Given the description of an element on the screen output the (x, y) to click on. 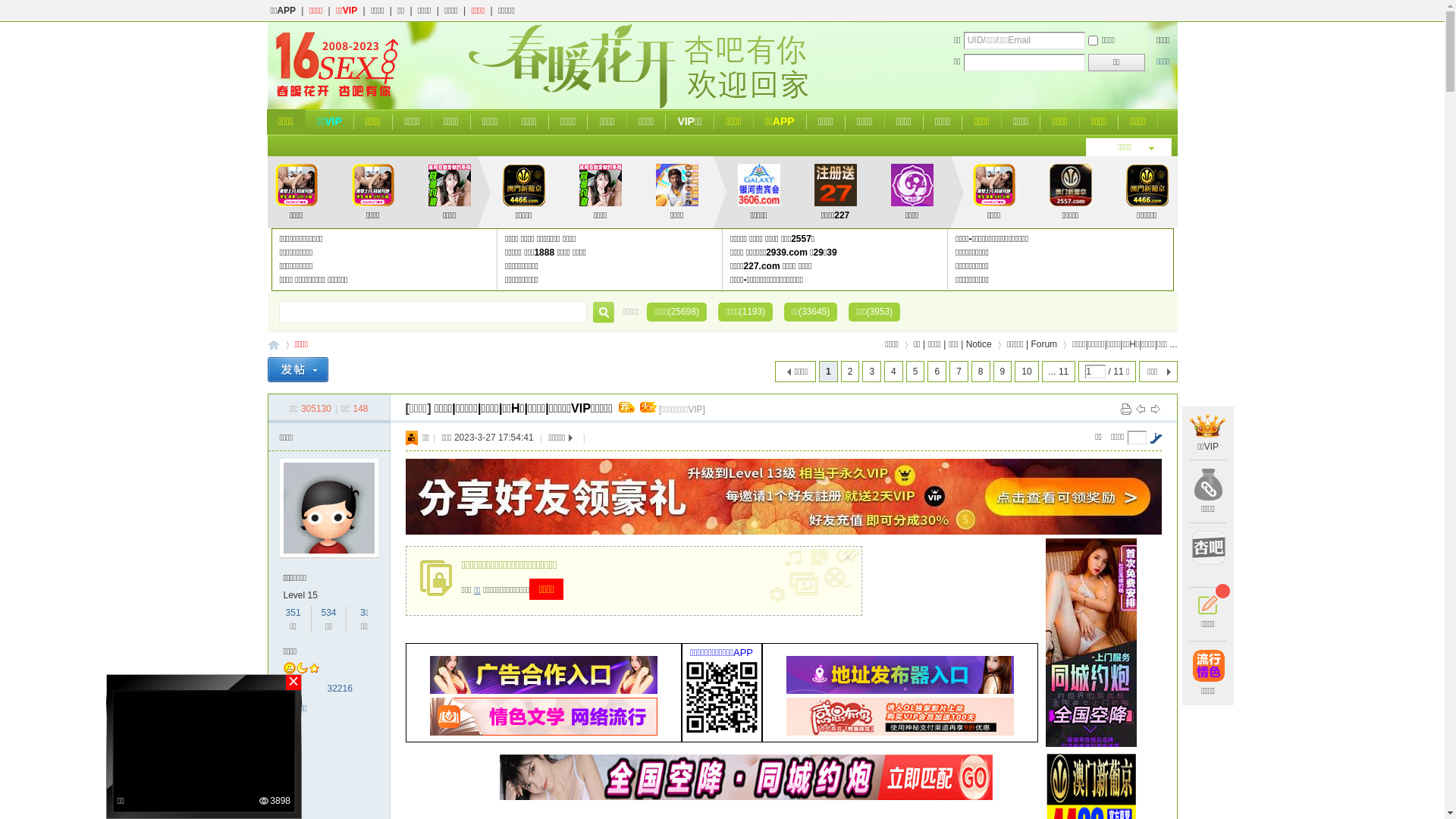
6 Element type: text (936, 371)
3 Element type: text (871, 371)
8 Element type: text (980, 371)
5 Element type: text (915, 371)
351 Element type: text (293, 612)
32216 Element type: text (339, 688)
... 11 Element type: text (1058, 371)
4 Element type: text (893, 371)
x Element type: text (849, 554)
10 Element type: text (1026, 371)
7 Element type: text (958, 371)
534 Element type: text (327, 612)
Level 15 Element type: text (300, 594)
2 Element type: text (849, 371)
9 Element type: text (1002, 371)
